Given the description of an element on the screen output the (x, y) to click on. 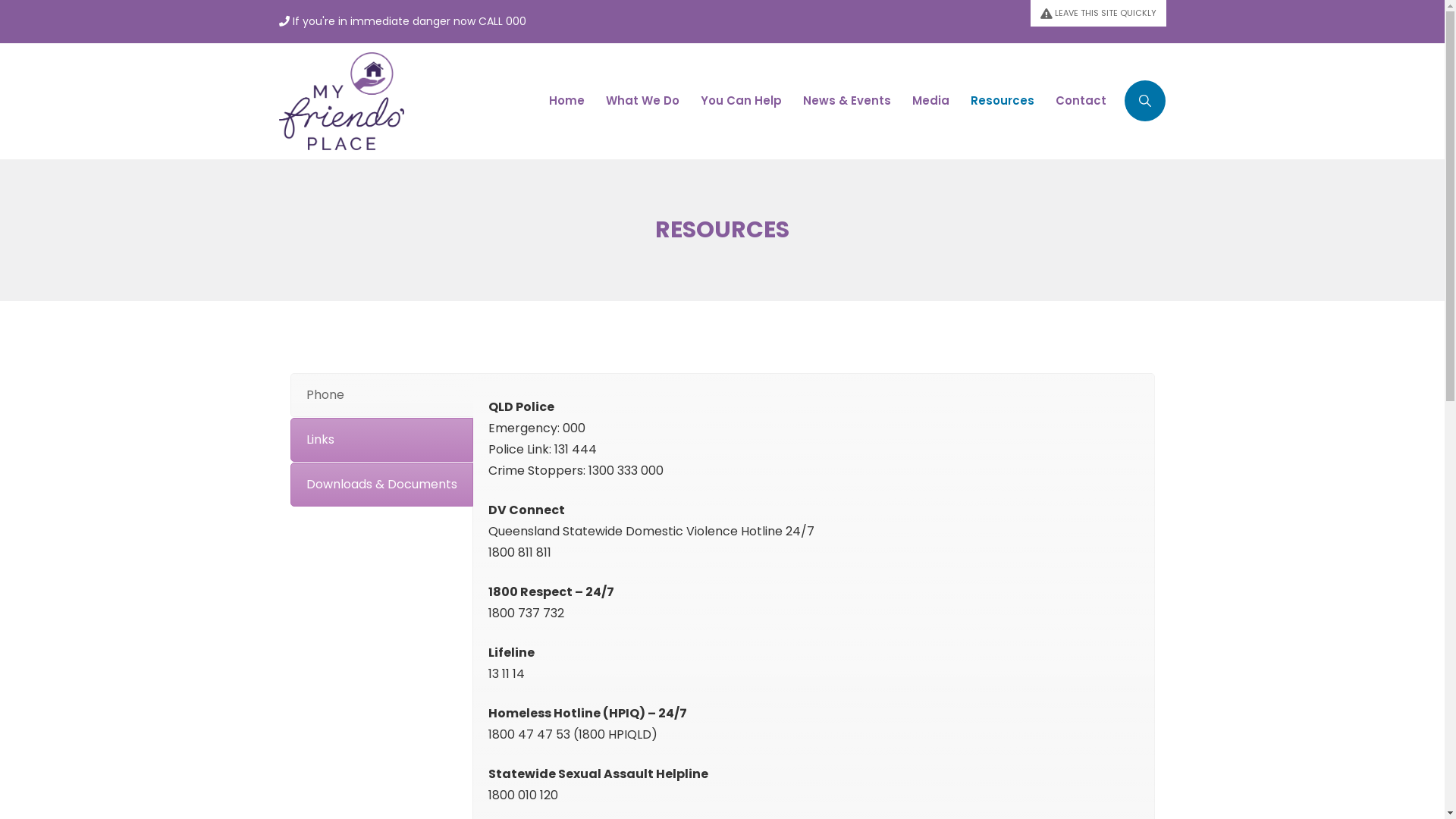
Media Element type: text (930, 101)
LEAVE THIS SITE QUICKLY Element type: text (1097, 13)
Downloads & Documents Element type: text (380, 484)
Links Element type: text (380, 439)
Phone Element type: text (380, 395)
You Can Help Element type: text (740, 101)
Home Element type: text (566, 101)
Search Element type: text (1111, 180)
What We Do Element type: text (642, 101)
Resources Element type: text (1002, 101)
News & Events Element type: text (847, 101)
Contact Element type: text (1080, 101)
